Given the description of an element on the screen output the (x, y) to click on. 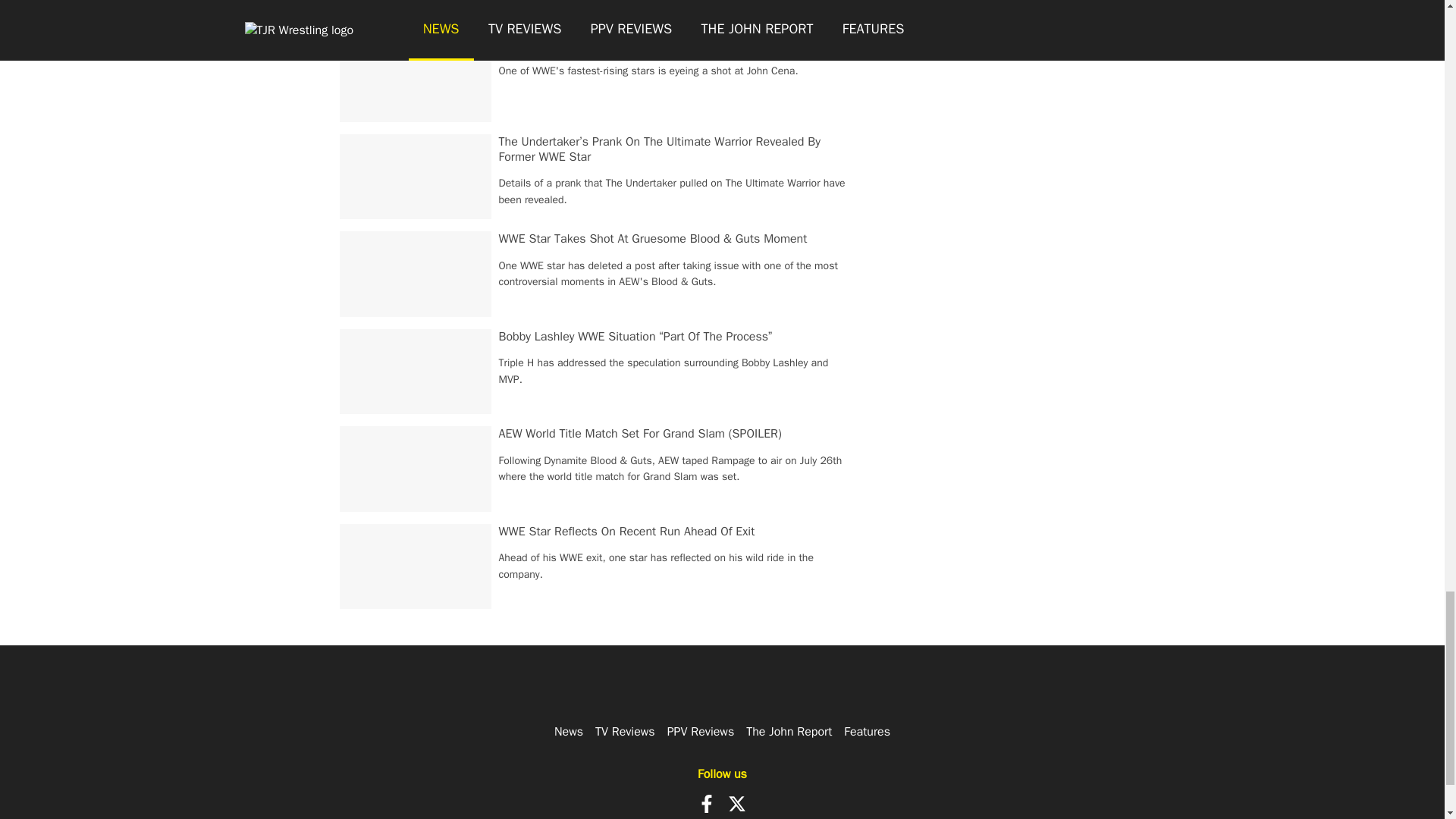
Facebook (706, 803)
Rising WWE Star Teases John Cena Clash (609, 43)
WWE Star Reflects On Recent Run Ahead Of Exit (627, 531)
X (736, 803)
